Given the description of an element on the screen output the (x, y) to click on. 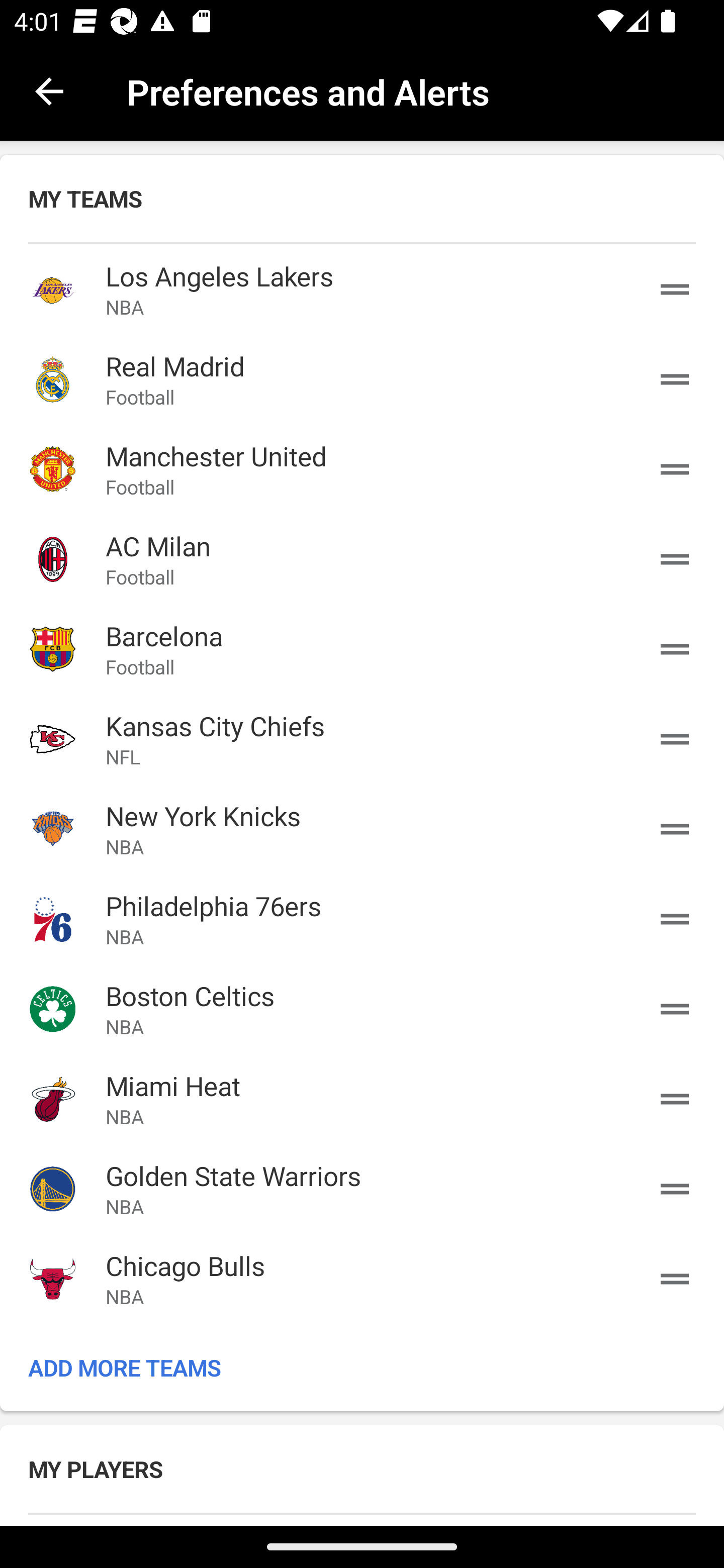
back.button (49, 90)
AC Milan AC Milan AC Milan Football Football (362, 558)
Barcelona Barcelona Barcelona Football Football (362, 648)
Miami Heat Miami Heat Miami Heat NBA NBA (362, 1098)
Chicago Bulls Chicago Bulls Chicago Bulls NBA NBA (362, 1278)
ADD MORE TEAMS (362, 1367)
